Given the description of an element on the screen output the (x, y) to click on. 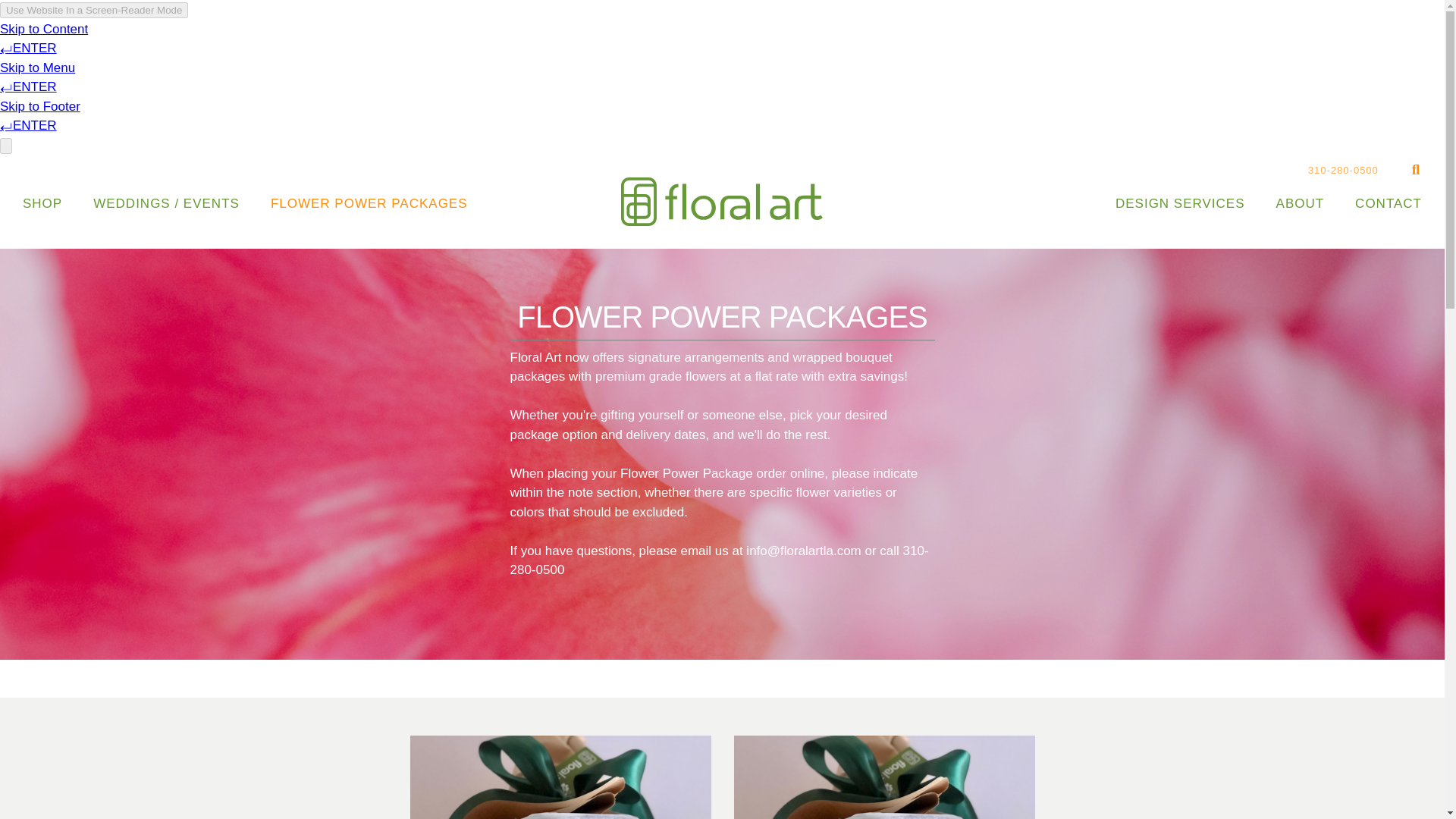
floral-art-logoG (721, 201)
FLOWER POWER PACKAGES (369, 203)
SHOP (42, 203)
CONTACT (1388, 203)
310-280-0500 (1342, 170)
DESIGN SERVICES (1180, 203)
ABOUT (1299, 203)
